Given the description of an element on the screen output the (x, y) to click on. 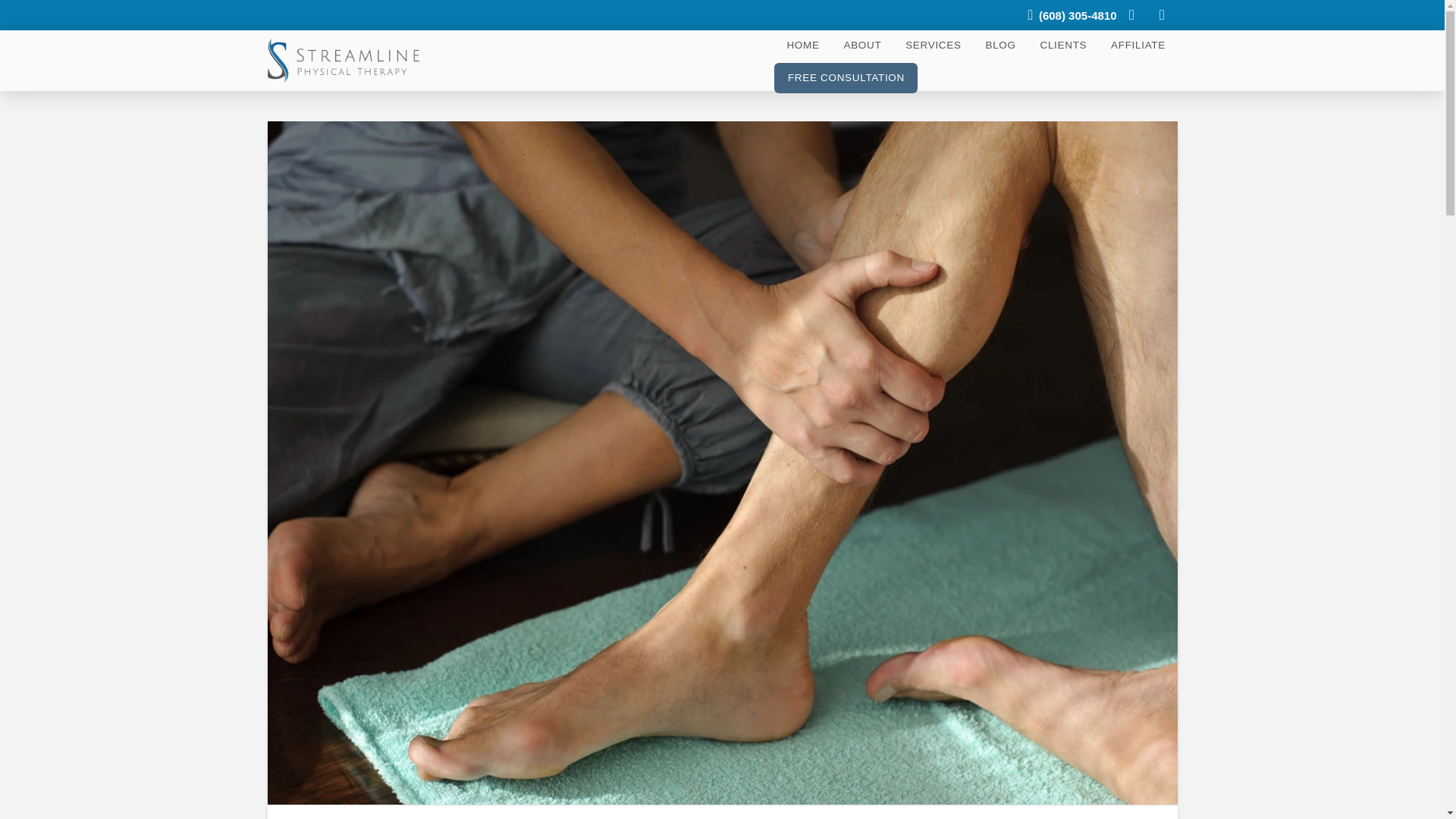
BLOG (999, 45)
HOME (802, 45)
ABOUT (862, 45)
AFFILIATE (1138, 45)
SERVICES (932, 45)
FREE CONSULTATION (845, 78)
CLIENTS (1063, 45)
